Given the description of an element on the screen output the (x, y) to click on. 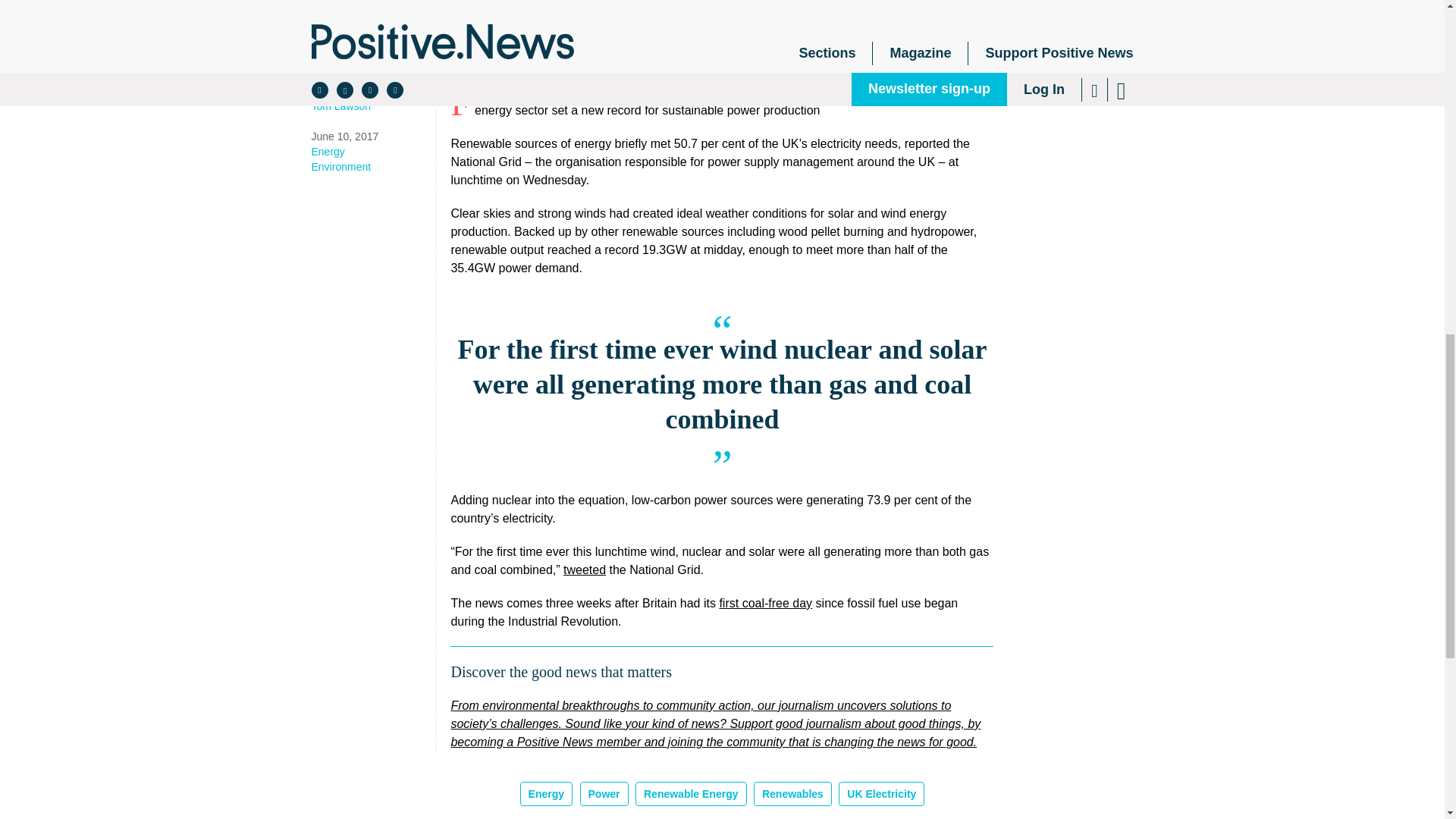
Environment (372, 166)
UK Electricity (881, 793)
Energy (545, 793)
Renewables (792, 793)
tweeted (584, 569)
Power (603, 793)
Renewable Energy (690, 793)
Energy (372, 151)
Tom Lawson (372, 105)
first coal-free day (765, 603)
